Given the description of an element on the screen output the (x, y) to click on. 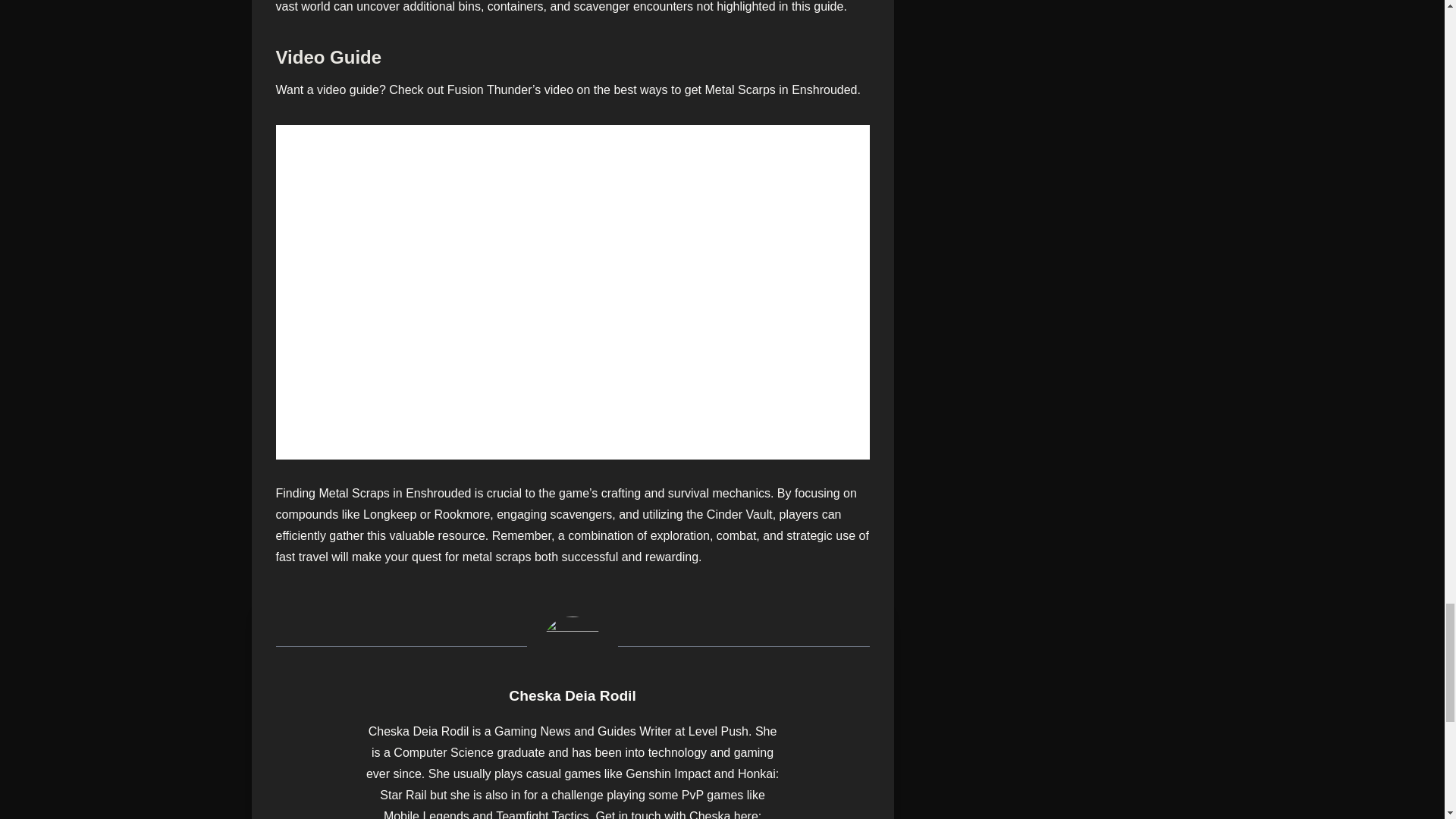
Cheska Deia Rodil (571, 695)
Posts by Cheska Deia Rodil (571, 695)
